Given the description of an element on the screen output the (x, y) to click on. 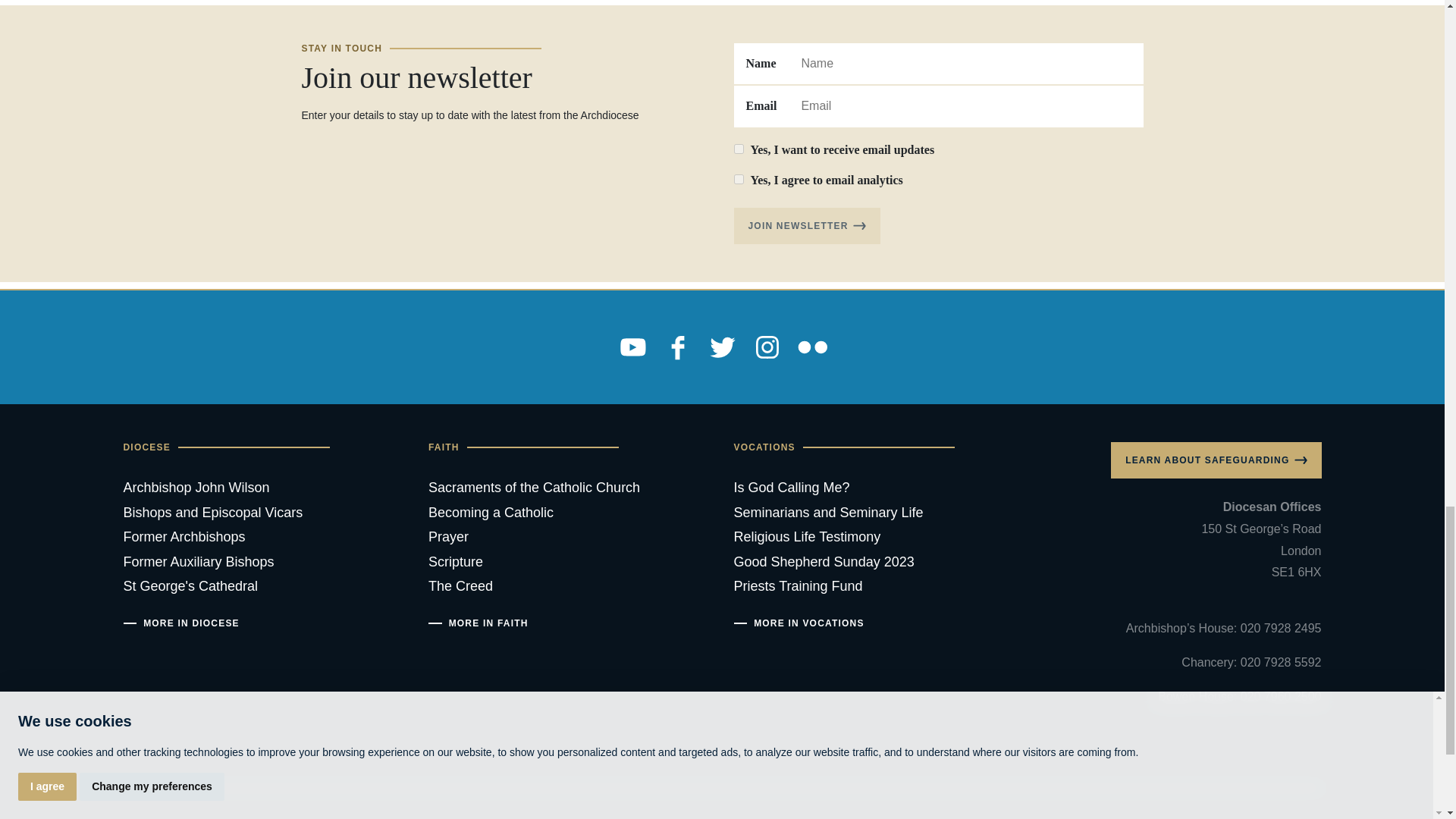
on (738, 179)
on (738, 148)
